Given the description of an element on the screen output the (x, y) to click on. 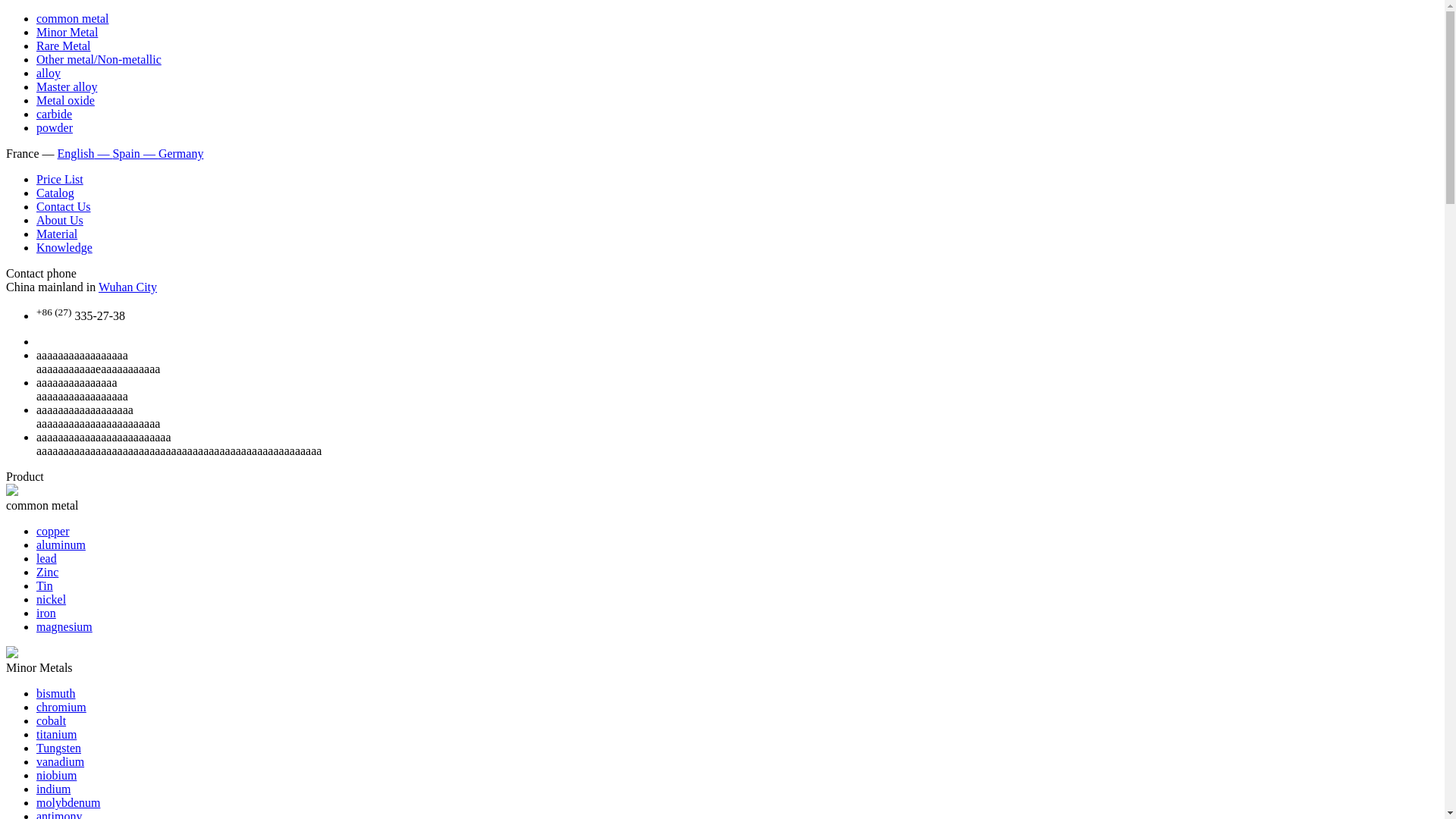
Tin Element type: text (44, 585)
magnesium Element type: text (64, 626)
alloy Element type: text (48, 72)
chromium Element type: text (61, 706)
Zinc Element type: text (47, 571)
lead Element type: text (46, 558)
vanadium Element type: text (60, 761)
nickel Element type: text (50, 599)
Catalog Element type: text (55, 192)
Minor Metal Element type: text (66, 31)
Other metal/Non-metallic Element type: text (98, 59)
niobium Element type: text (56, 774)
indium Element type: text (53, 788)
Price List Element type: text (59, 178)
common metal Element type: text (72, 18)
Germany Element type: text (180, 153)
Rare Metal Element type: text (63, 45)
molybdenum Element type: text (68, 802)
cobalt Element type: text (50, 720)
copper Element type: text (52, 530)
Contact Us Element type: text (63, 206)
About Us Element type: text (59, 219)
Material Element type: text (56, 233)
titanium Element type: text (56, 734)
Master alloy Element type: text (66, 86)
powder Element type: text (54, 127)
Knowledge Element type: text (64, 247)
Metal oxide Element type: text (65, 100)
aluminum Element type: text (60, 544)
bismuth Element type: text (55, 693)
Wuhan City Element type: text (127, 286)
carbide Element type: text (54, 113)
Tungsten Element type: text (58, 747)
iron Element type: text (46, 612)
